Given the description of an element on the screen output the (x, y) to click on. 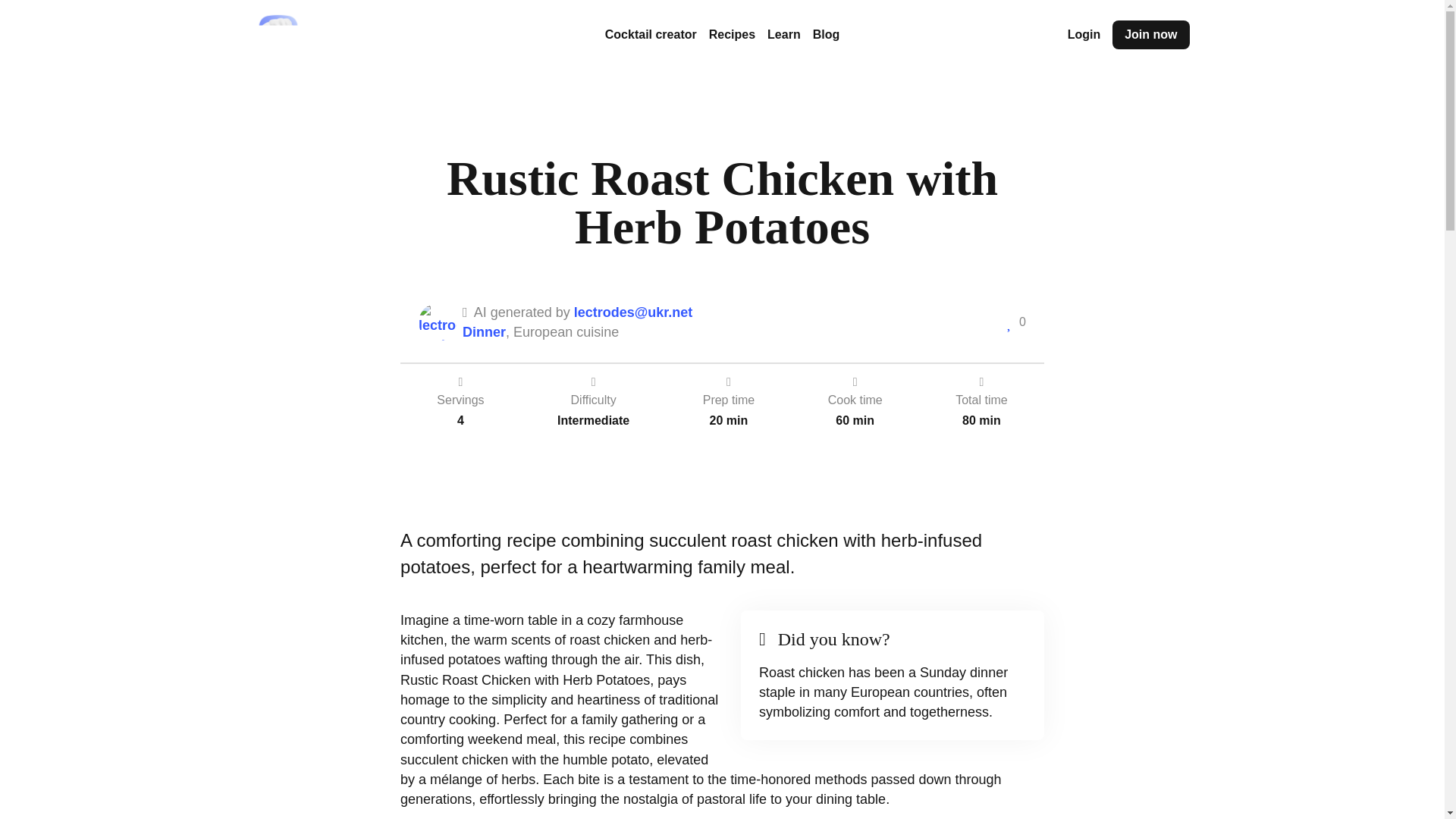
Dinner (484, 331)
Blog (825, 34)
Join now (1150, 34)
Login (1083, 34)
Learn (783, 34)
Recipes (732, 34)
Cocktail creator (650, 34)
